Given the description of an element on the screen output the (x, y) to click on. 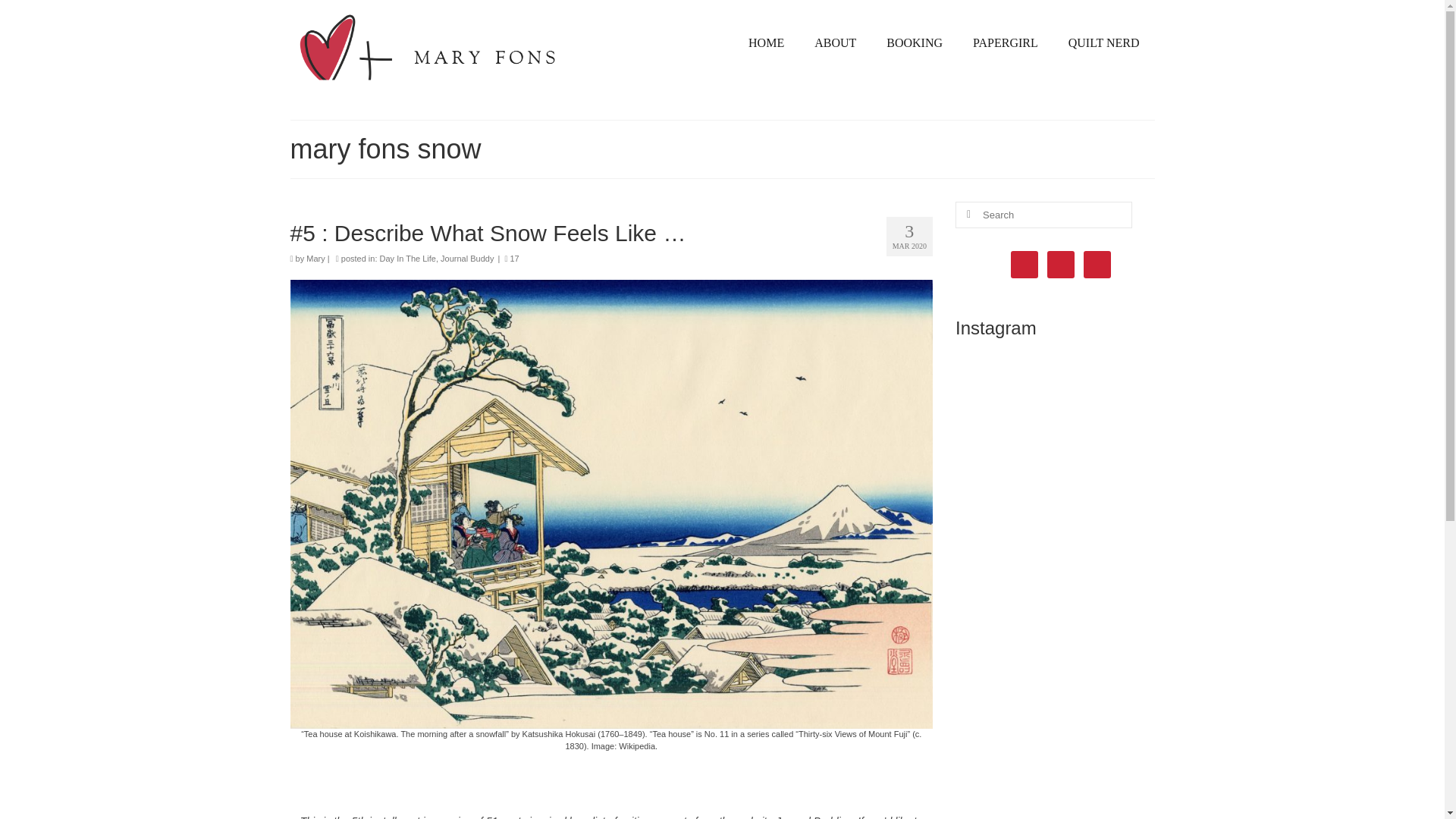
PAPERGIRL (1005, 42)
HOME (766, 42)
Mary (314, 257)
QUILT NERD (1103, 42)
Journal Buddy (467, 257)
Mary Fons (428, 53)
Day In The Life (407, 257)
ABOUT (834, 42)
BOOKING (914, 42)
17 (510, 257)
